Given the description of an element on the screen output the (x, y) to click on. 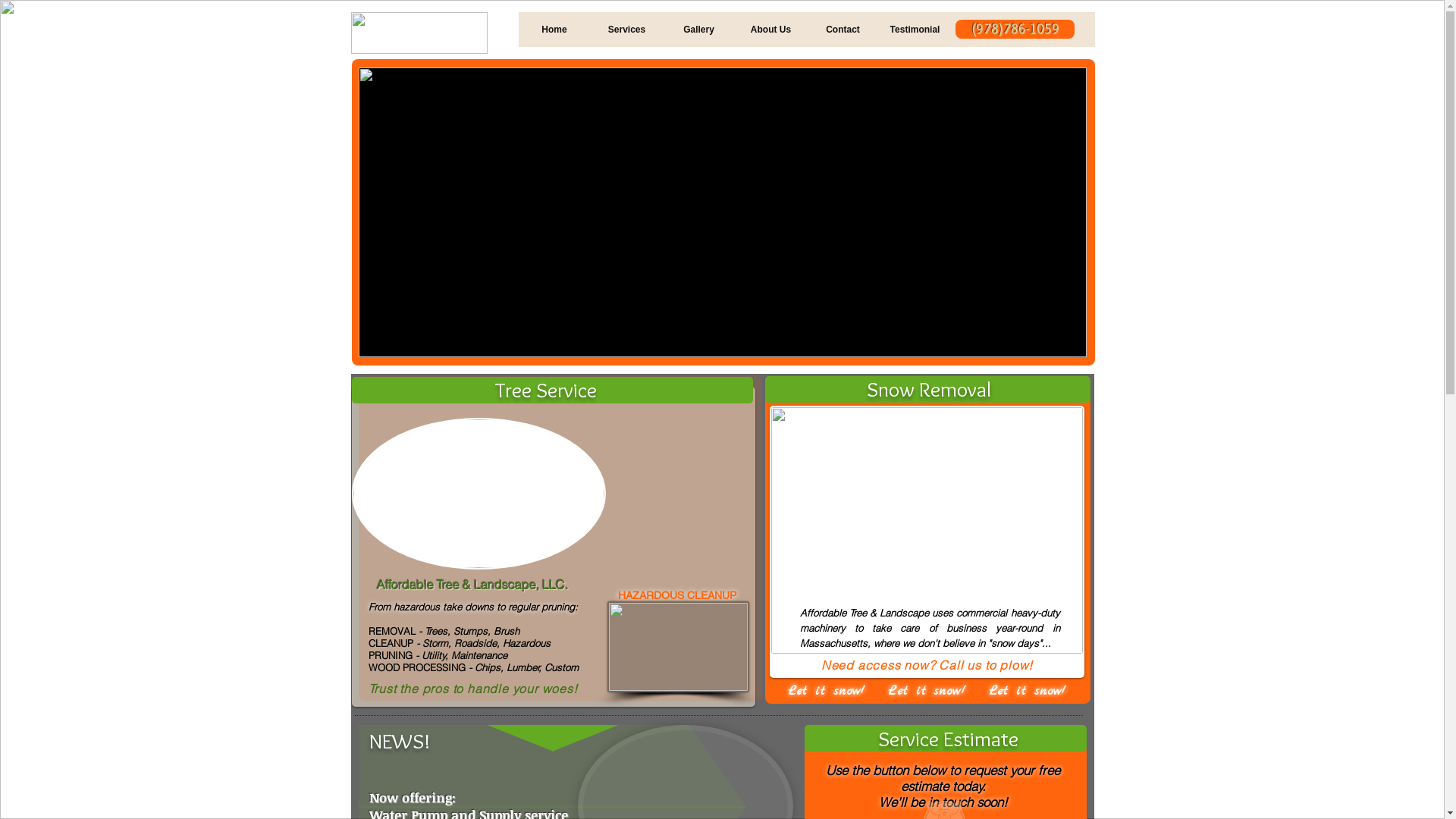
550.jpg Element type: hover (478, 493)
Gallery Element type: text (698, 29)
Home Element type: text (554, 29)
Testimonial Element type: text (914, 29)
Services Element type: text (625, 29)
Contact Element type: text (842, 29)
About Us Element type: text (770, 29)
(978)786-1059 Element type: text (1014, 28)
